Given the description of an element on the screen output the (x, y) to click on. 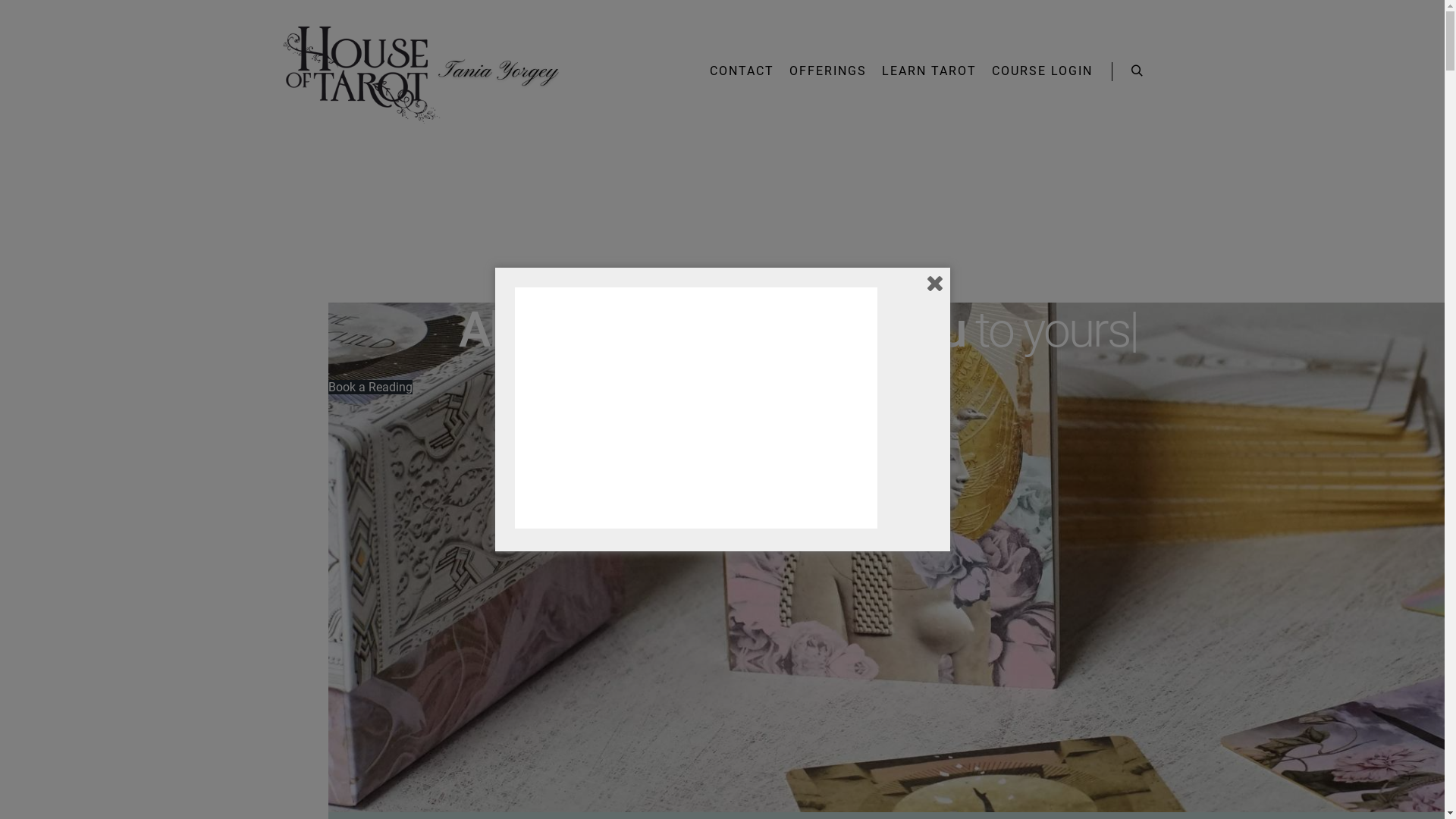
COURSE LOGIN Element type: text (1042, 71)
CONTACT Element type: text (741, 71)
LEARN TAROT Element type: text (928, 71)
Search Element type: text (1137, 71)
OFFERINGS Element type: text (827, 71)
House of Tarot Element type: hover (422, 71)
Book a Reading Element type: text (369, 386)
